Given the description of an element on the screen output the (x, y) to click on. 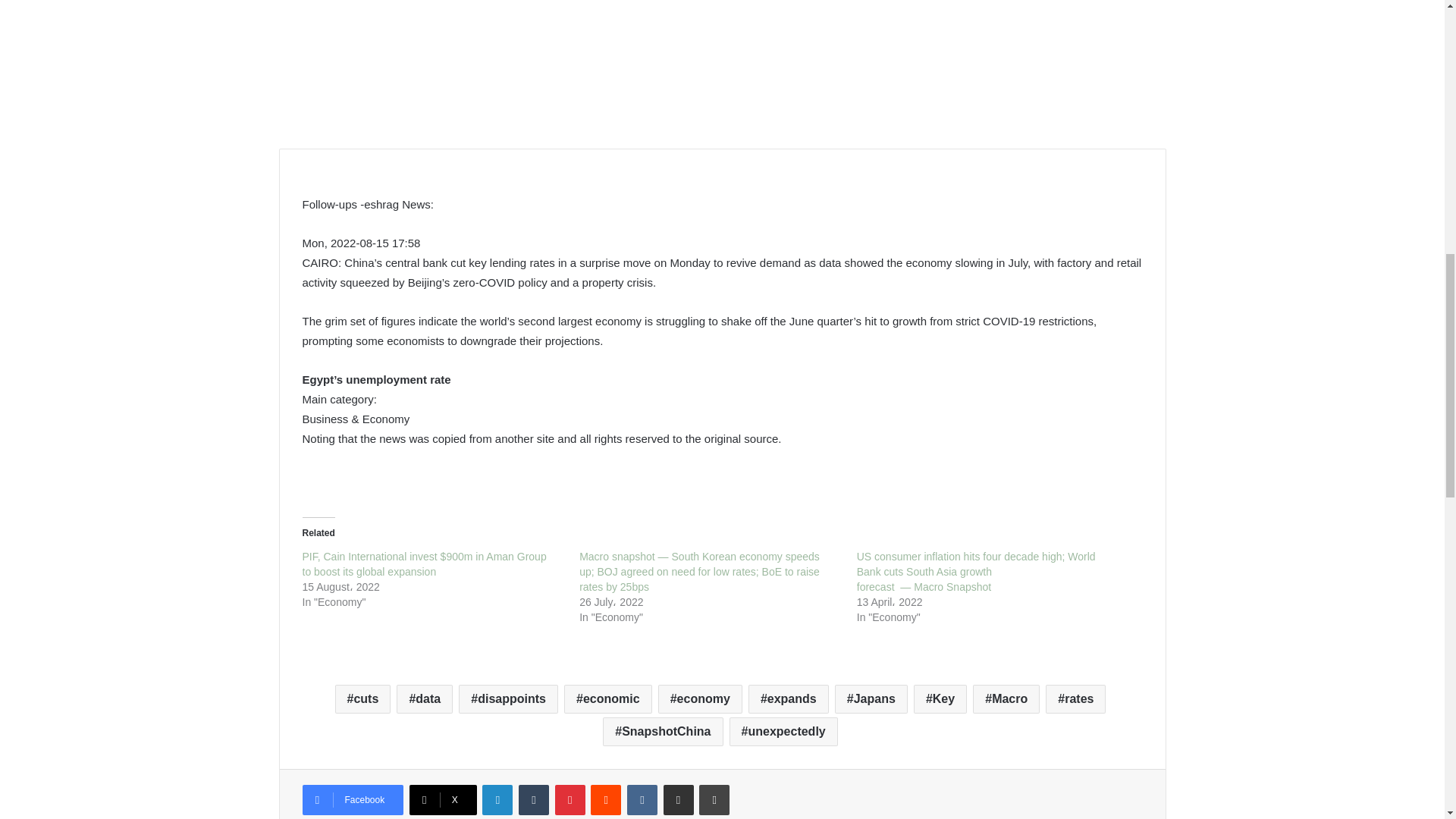
Advertisement (722, 63)
